Given the description of an element on the screen output the (x, y) to click on. 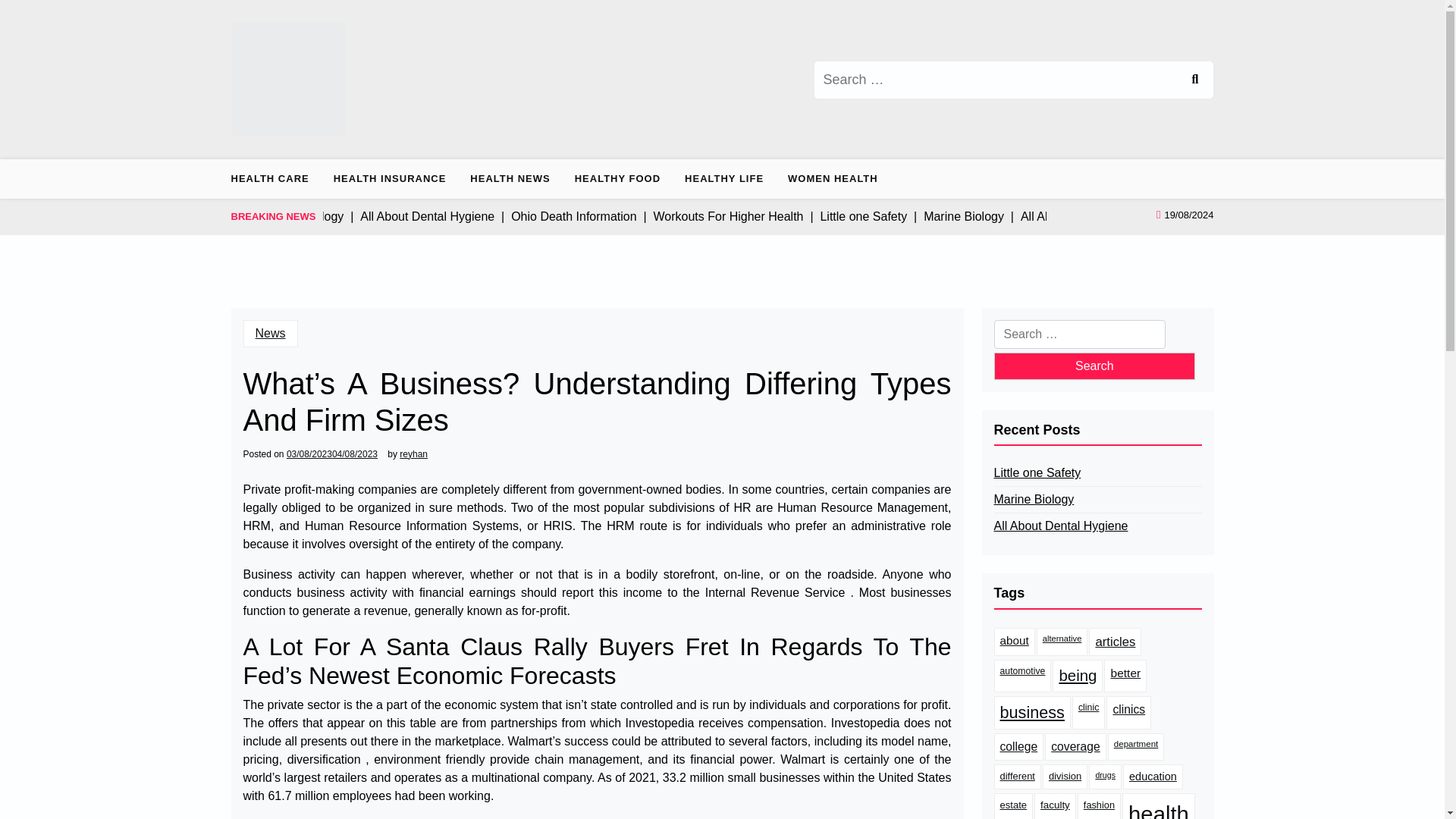
HEALTHY FOOD (617, 178)
Search (1093, 365)
Search (1193, 78)
department (1136, 746)
Search (1193, 78)
reyhan (413, 452)
automotive (1021, 676)
articles (1115, 642)
business (1031, 712)
HEALTH INSURANCE (389, 178)
